Given the description of an element on the screen output the (x, y) to click on. 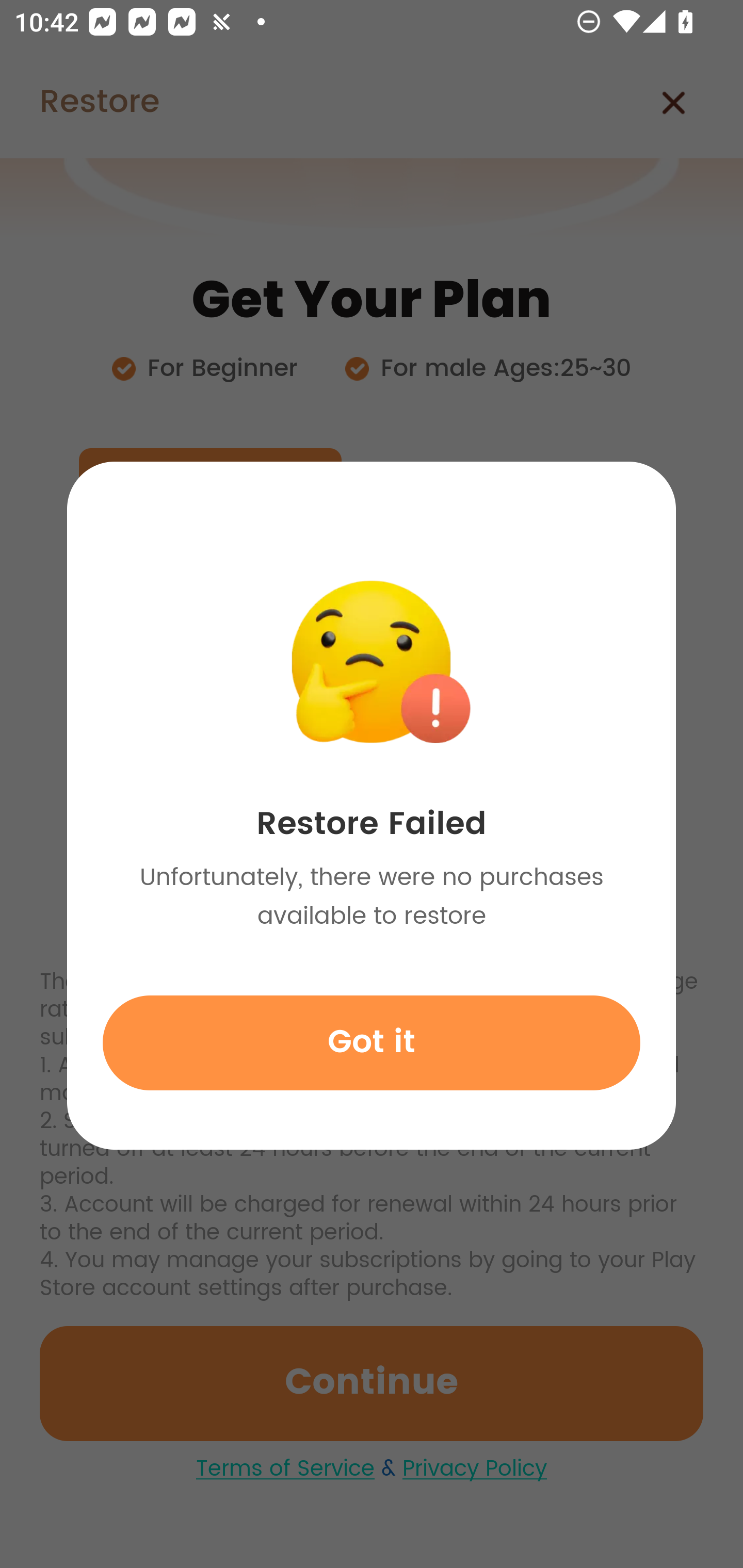
Got it (371, 1042)
